Given the description of an element on the screen output the (x, y) to click on. 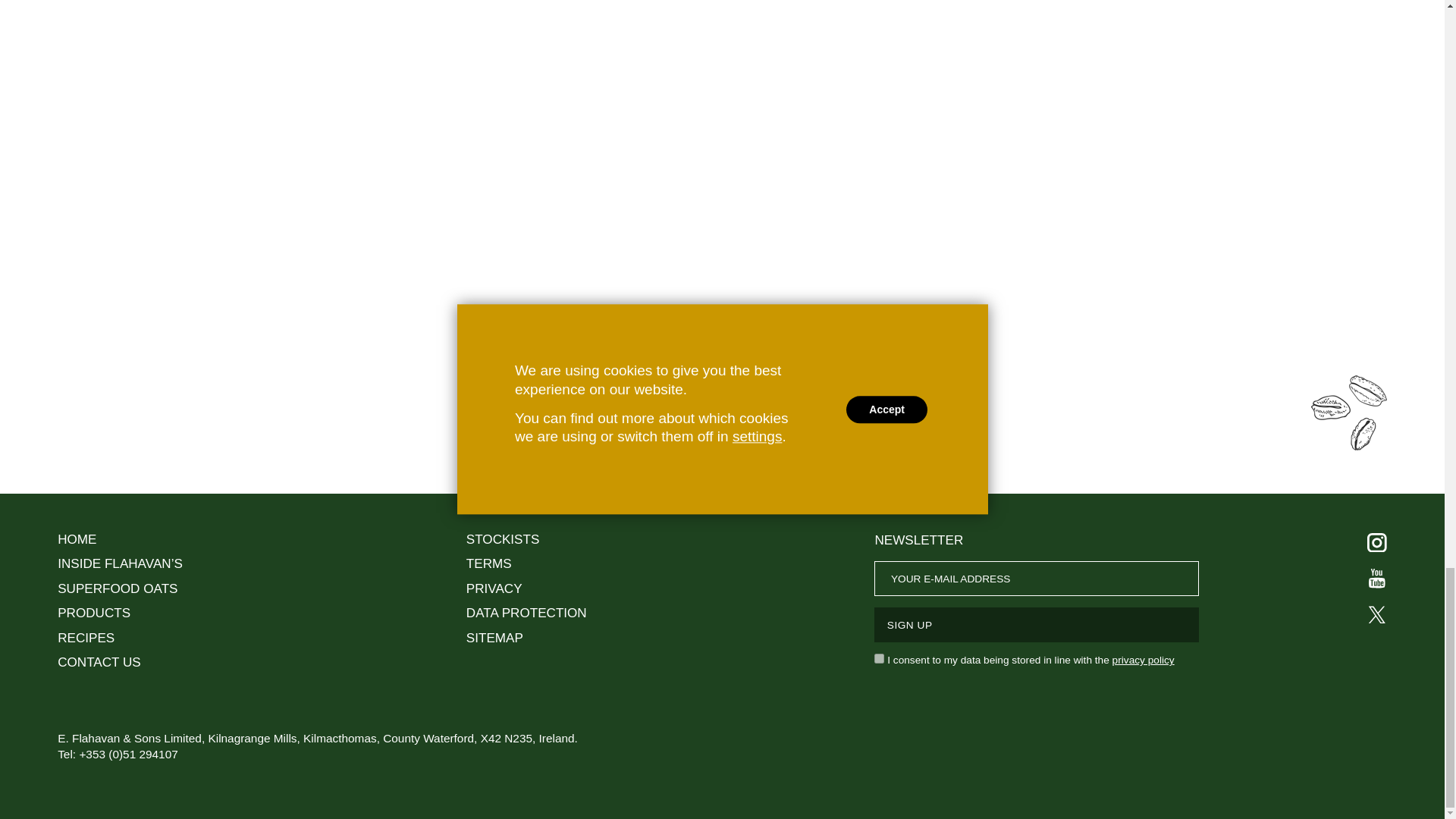
Twitter (1376, 614)
on (879, 658)
YouTube (1376, 578)
Sign Up (1036, 624)
Instagram (1376, 542)
